Given the description of an element on the screen output the (x, y) to click on. 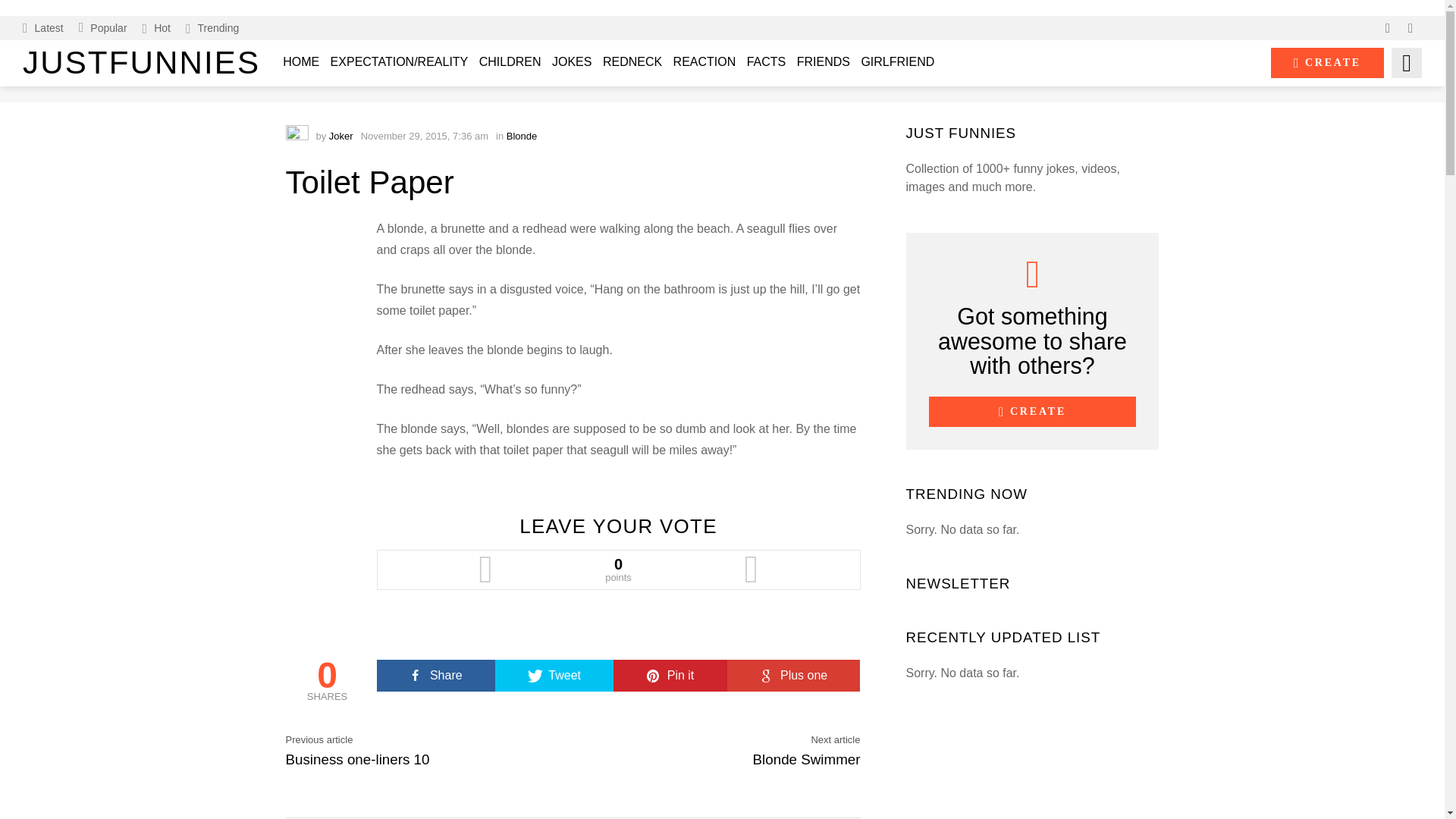
Trending (211, 27)
REDNECK (631, 61)
Posts by Joker (341, 135)
JUSTFUNNIES (141, 62)
Upvote (485, 569)
Downvote (751, 569)
JOKES (571, 61)
CREATE (1327, 62)
Blonde (521, 135)
